Given the description of an element on the screen output the (x, y) to click on. 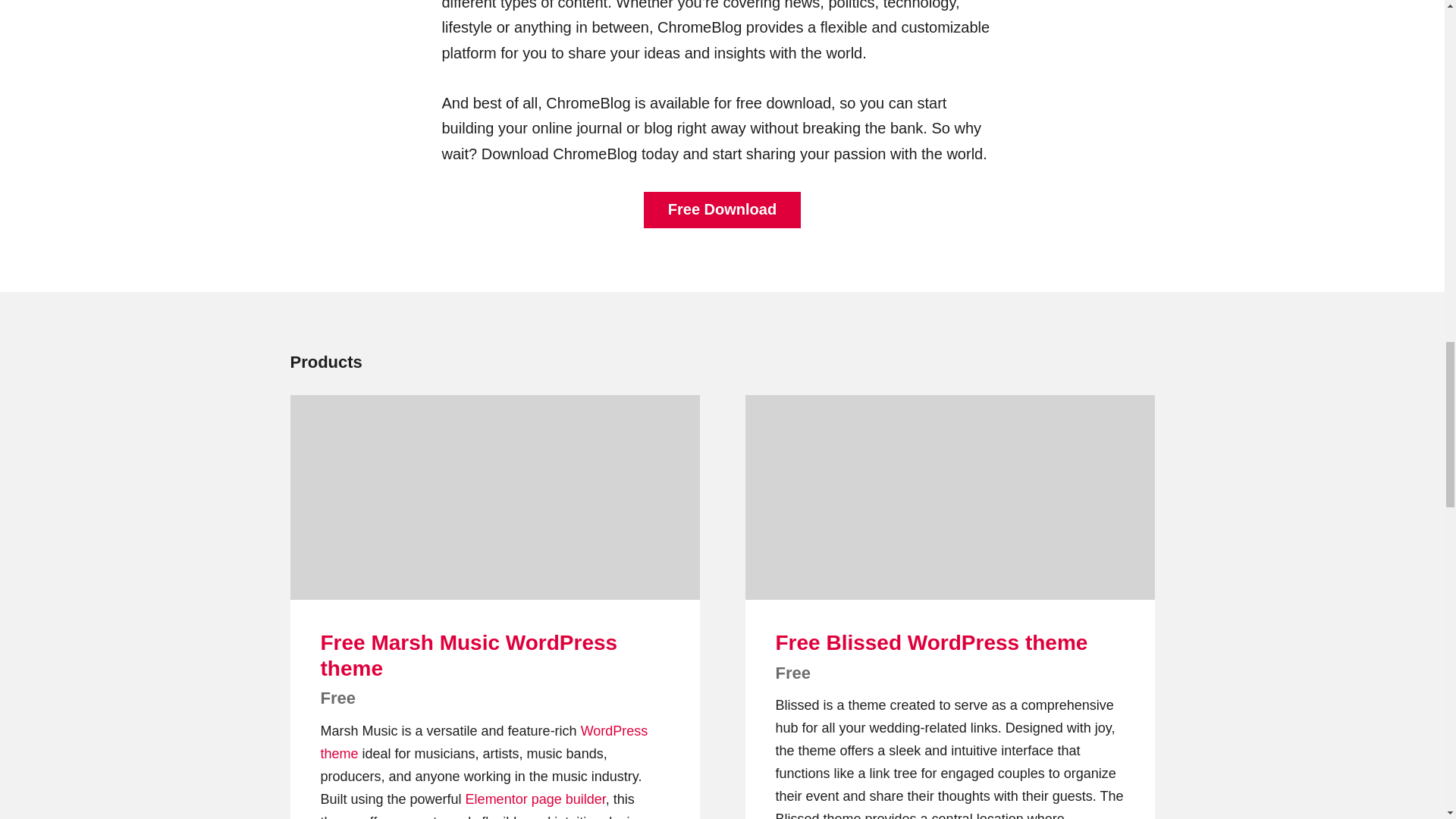
Wordpress themes (483, 742)
WordPress theme (483, 742)
Elementor (496, 798)
Continue reading Free Blissed WordPress theme (949, 496)
Free Marsh Music WordPress theme (468, 655)
Free Download (721, 209)
Continue reading Free Marsh Music WordPress theme (493, 496)
build your website (568, 798)
Free Blissed WordPress theme (930, 642)
page builder (568, 798)
